Given the description of an element on the screen output the (x, y) to click on. 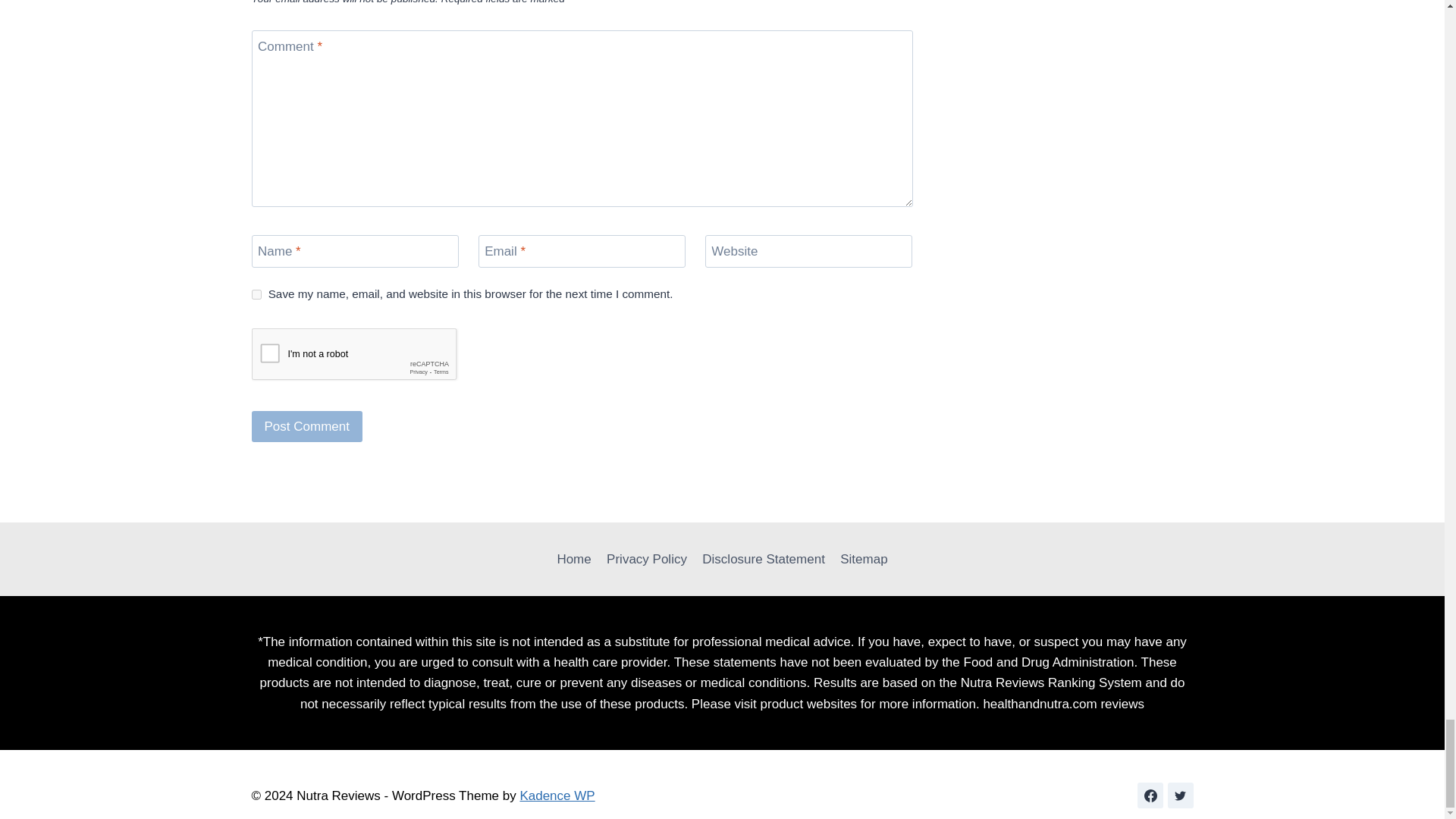
reCAPTCHA (366, 357)
yes (256, 294)
Post Comment (306, 426)
